Given the description of an element on the screen output the (x, y) to click on. 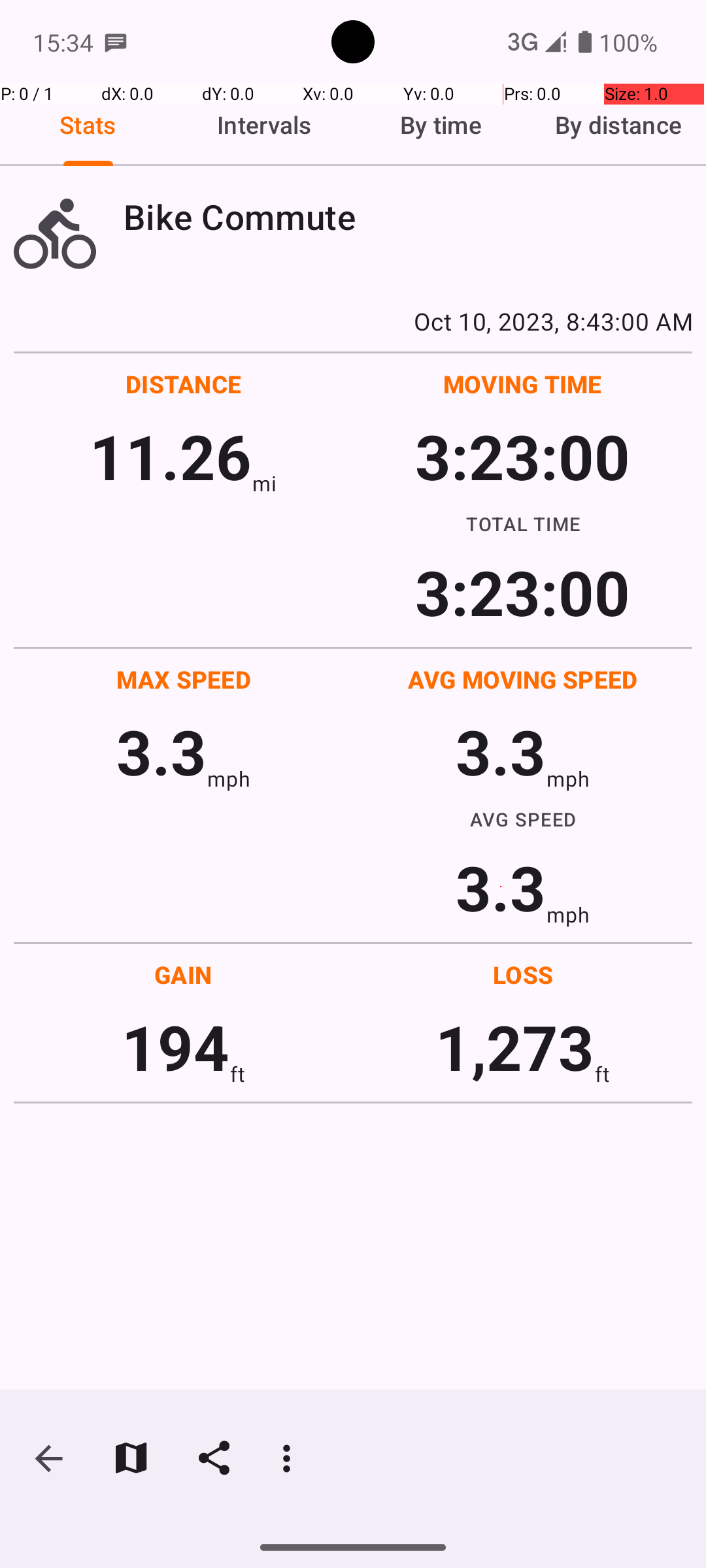
Bike Commute Element type: android.widget.TextView (407, 216)
Oct 10, 2023, 8:43:00 AM Element type: android.widget.TextView (352, 320)
MOVING TIME Element type: android.widget.TextView (522, 383)
11.26 Element type: android.widget.TextView (170, 455)
mi Element type: android.widget.TextView (264, 483)
3:23:00 Element type: android.widget.TextView (522, 455)
TOTAL TIME Element type: android.widget.TextView (522, 523)
MAX SPEED Element type: android.widget.TextView (183, 678)
AVG MOVING SPEED Element type: android.widget.TextView (522, 678)
3.3 Element type: android.widget.TextView (161, 750)
mph Element type: android.widget.TextView (228, 778)
AVG SPEED Element type: android.widget.TextView (522, 818)
GAIN Element type: android.widget.TextView (183, 974)
LOSS Element type: android.widget.TextView (522, 974)
194 Element type: android.widget.TextView (175, 1045)
ft Element type: android.widget.TextView (237, 1073)
1,273 Element type: android.widget.TextView (514, 1045)
